Given the description of an element on the screen output the (x, y) to click on. 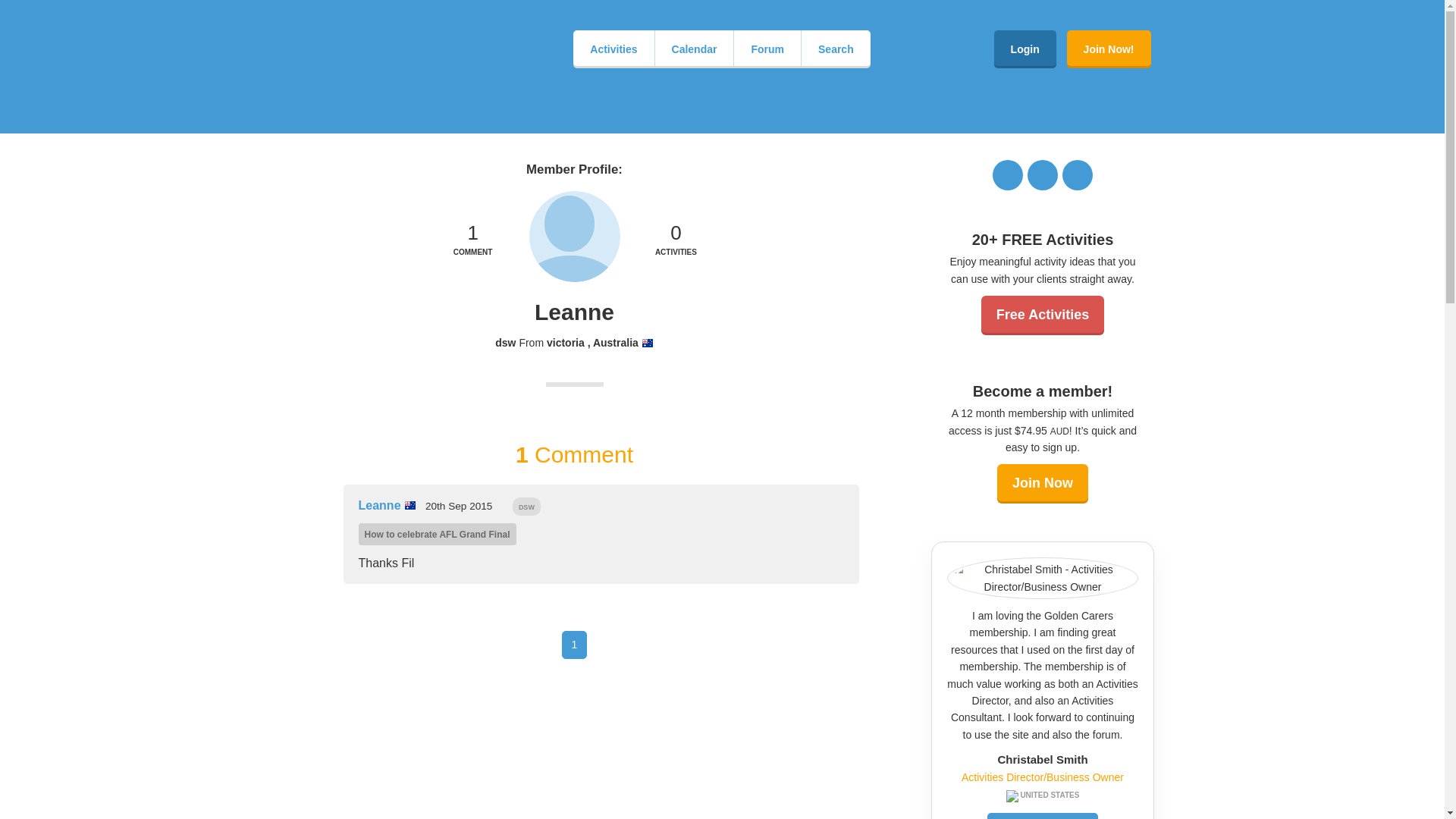
Join Now (1042, 483)
Connect with us on YouTube (675, 241)
Submit an Activity Idea (473, 241)
How to celebrate AFL Grand Final (1077, 174)
1 (675, 241)
Member Feedback (436, 534)
Connect with us on Pinterest (675, 241)
